Given the description of an element on the screen output the (x, y) to click on. 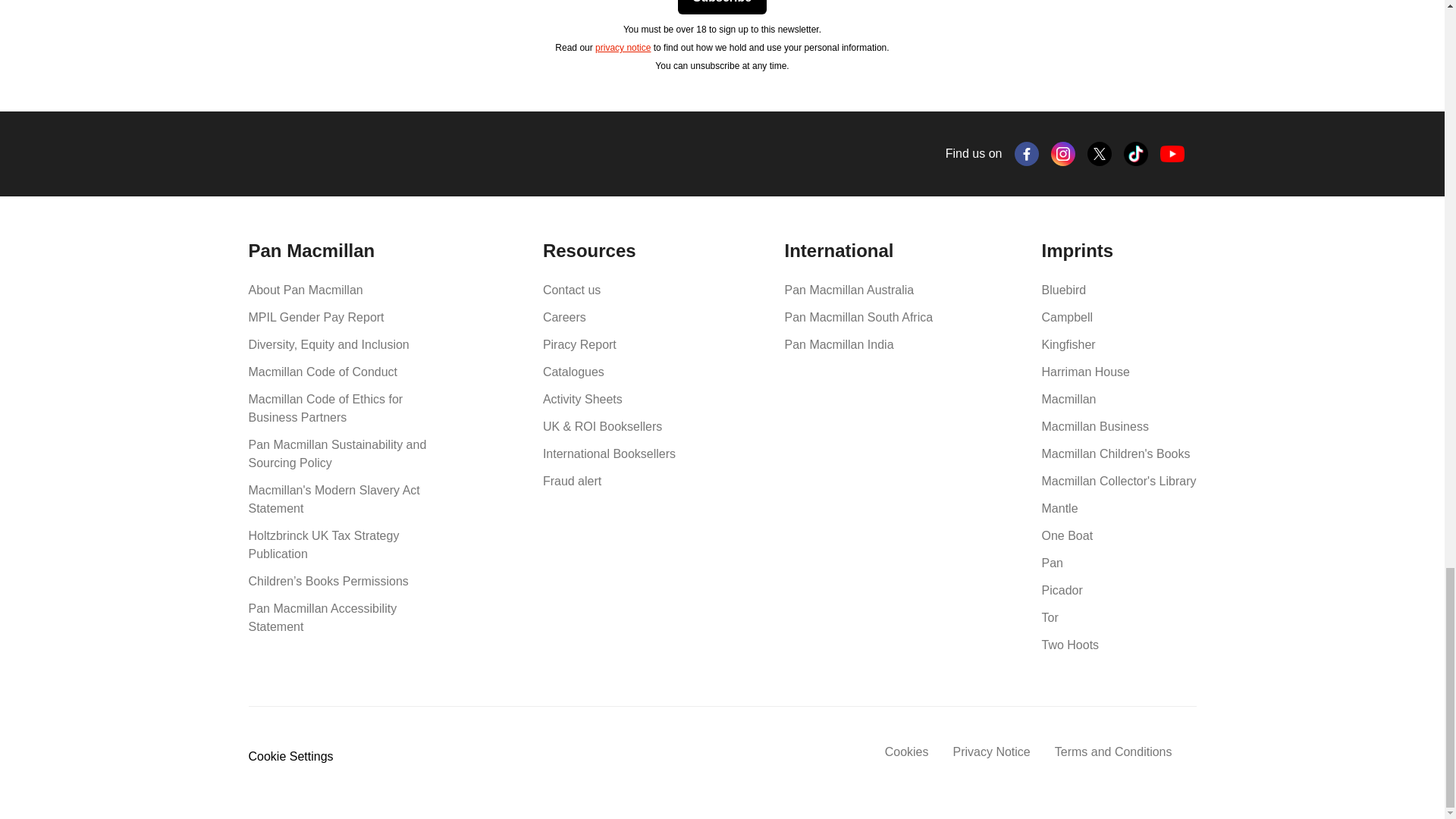
Pan Macmillan Privacy Notice (622, 47)
Facebook (1026, 153)
Subscribe (722, 7)
